Given the description of an element on the screen output the (x, y) to click on. 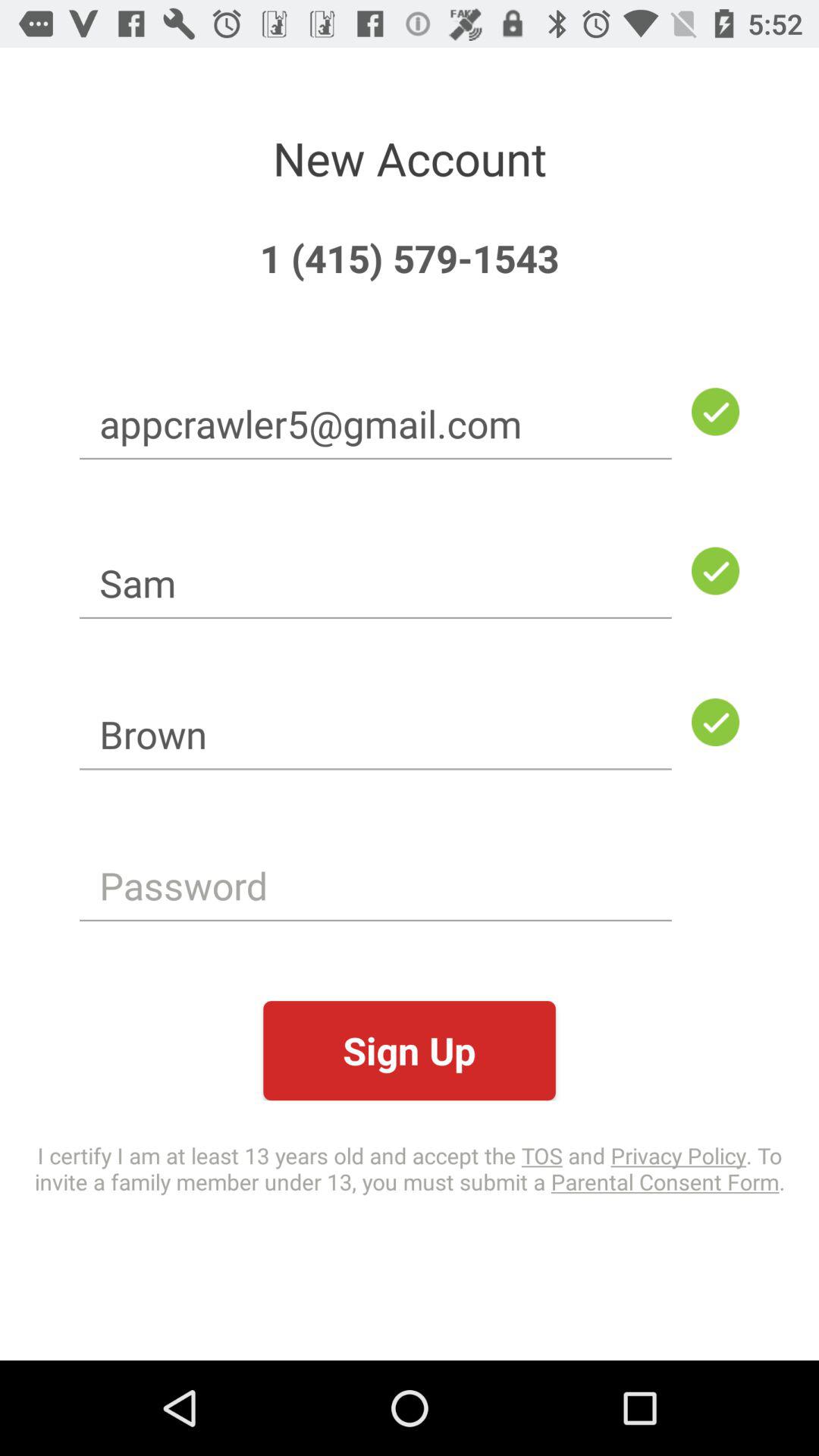
swipe to the sam icon (375, 582)
